Given the description of an element on the screen output the (x, y) to click on. 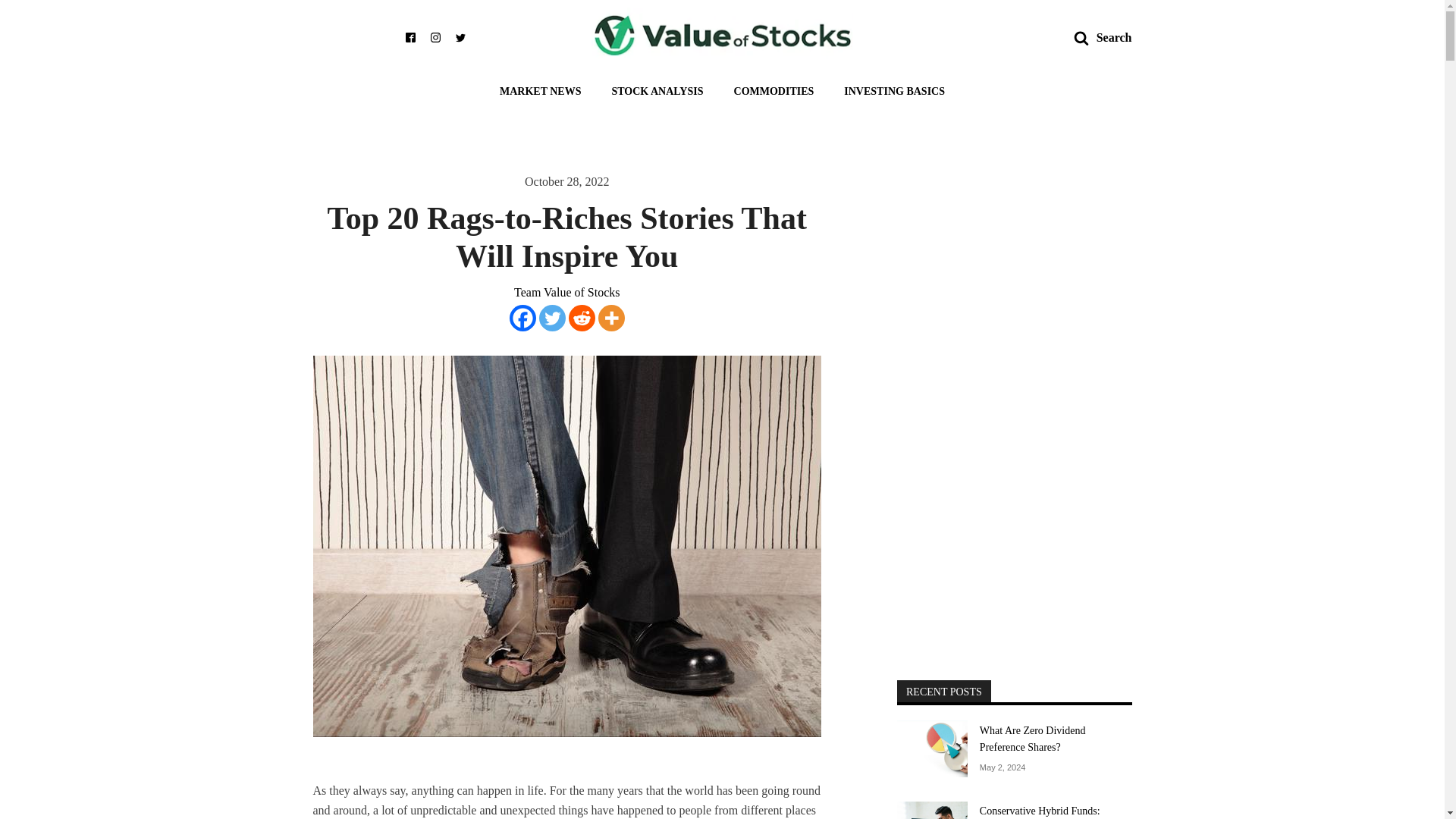
Team Value of Stocks (566, 292)
COMMODITIES (774, 85)
MARKET NEWS (539, 85)
INVESTING BASICS (893, 85)
Twitter (552, 317)
STOCK ANALYSIS (656, 85)
Facebook (522, 317)
Reddit (582, 317)
More (611, 317)
